Given the description of an element on the screen output the (x, y) to click on. 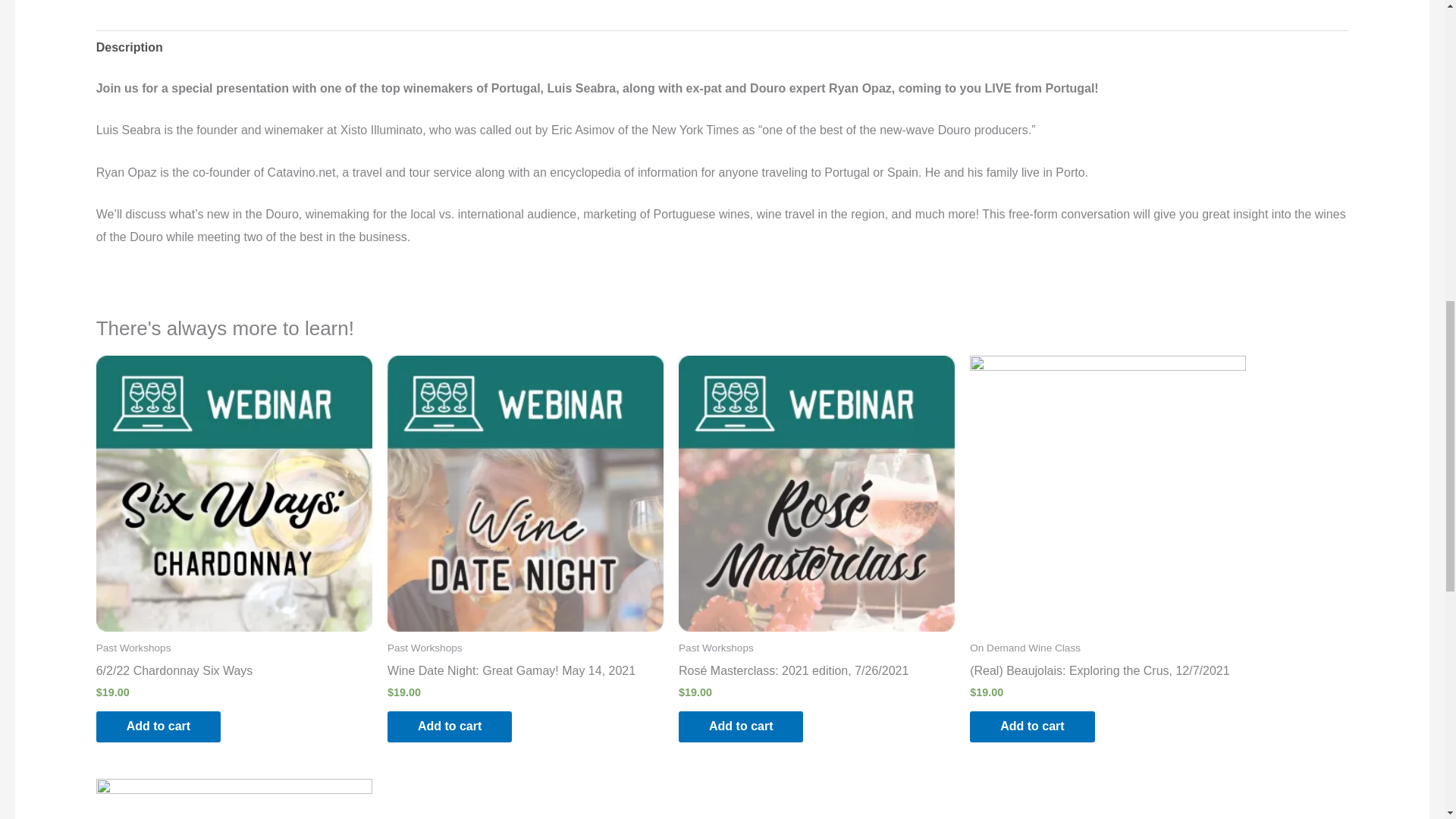
Wine Date Night: Great Gamay! May 14, 2021 (525, 674)
Description (129, 47)
Add to cart (158, 726)
Add to cart (1031, 726)
Add to cart (449, 726)
Add to cart (740, 726)
